Given the description of an element on the screen output the (x, y) to click on. 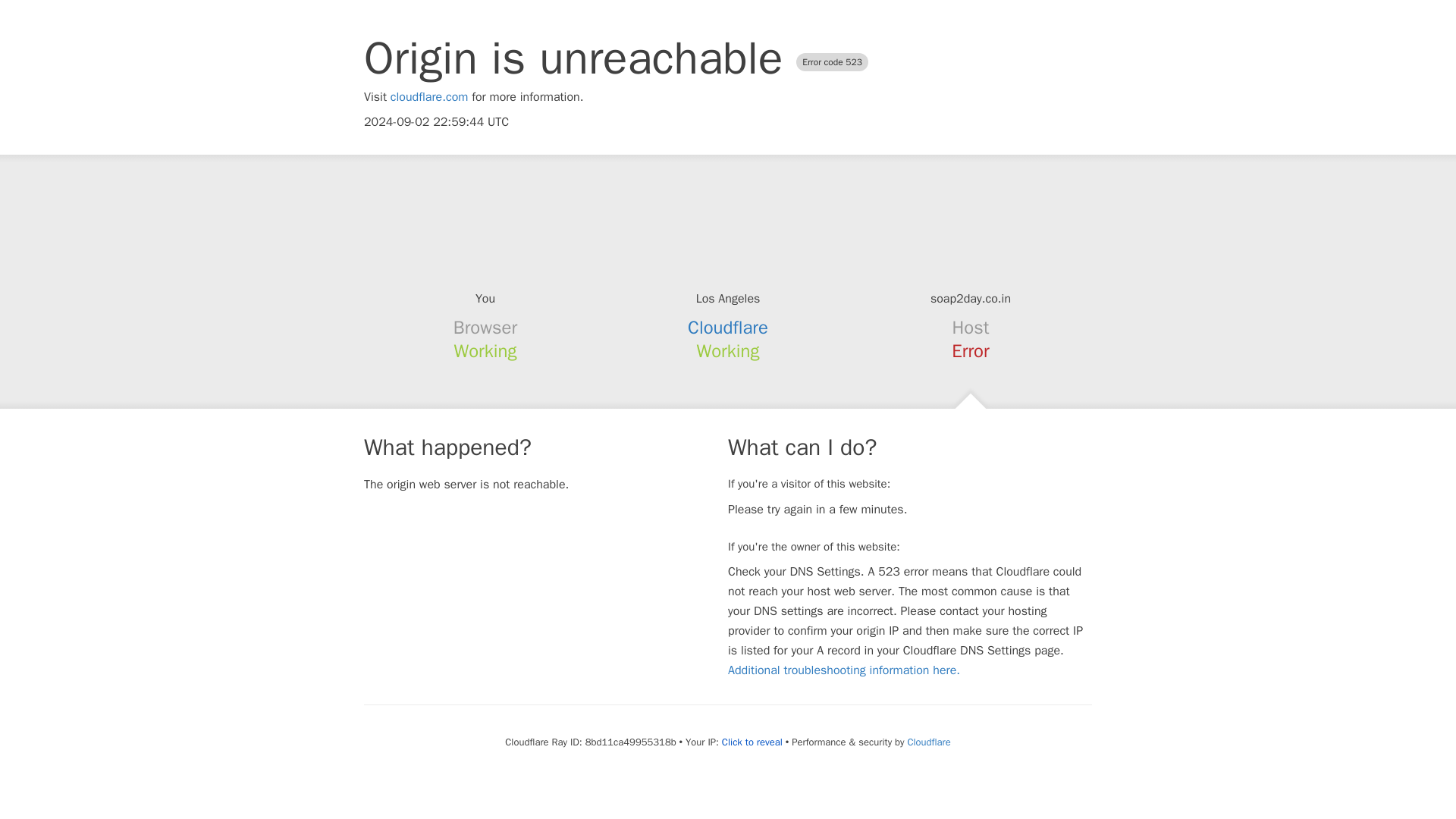
cloudflare.com (429, 96)
Cloudflare (928, 741)
Cloudflare (727, 327)
Additional troubleshooting information here. (843, 670)
Click to reveal (752, 742)
